Given the description of an element on the screen output the (x, y) to click on. 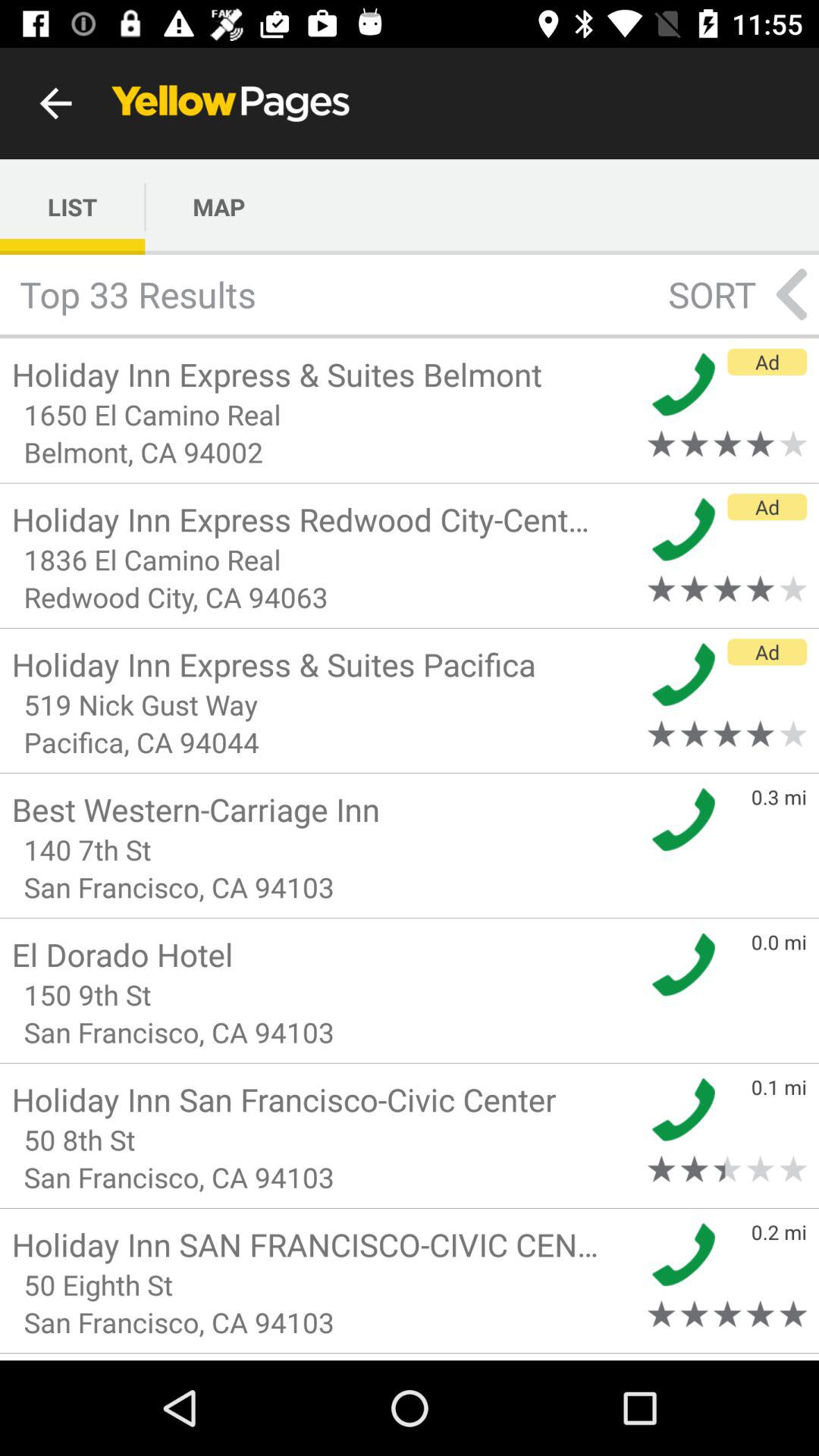
scroll to the 140 7th st item (324, 849)
